Given the description of an element on the screen output the (x, y) to click on. 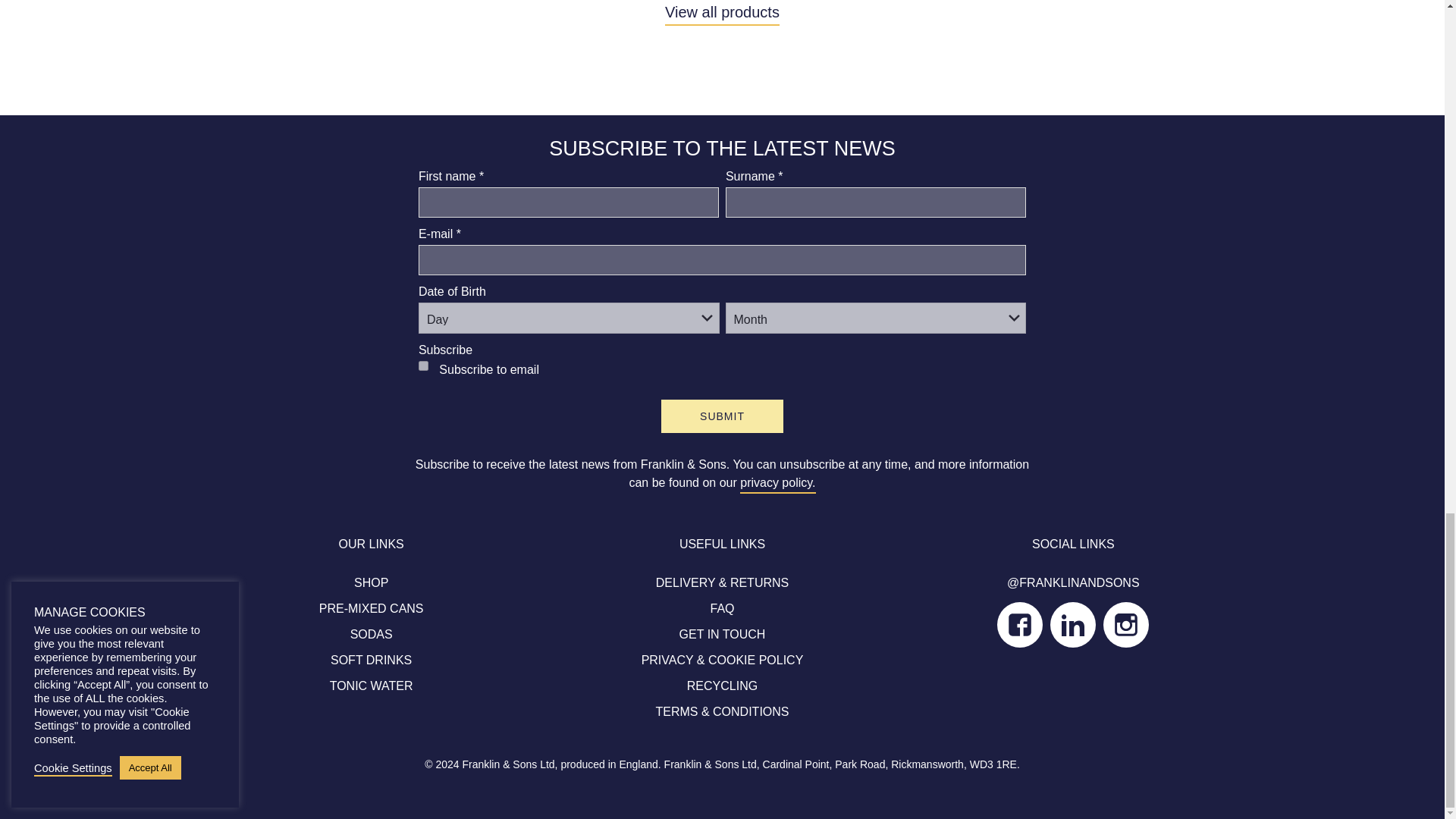
SUBMIT (722, 416)
TONIC WATER (371, 686)
SOFT DRINKS (371, 660)
SHOP (370, 583)
View all products (721, 12)
privacy policy. (777, 483)
SODAS (371, 634)
PRE-MIXED CANS (370, 608)
Subscribe to email (423, 366)
